Given the description of an element on the screen output the (x, y) to click on. 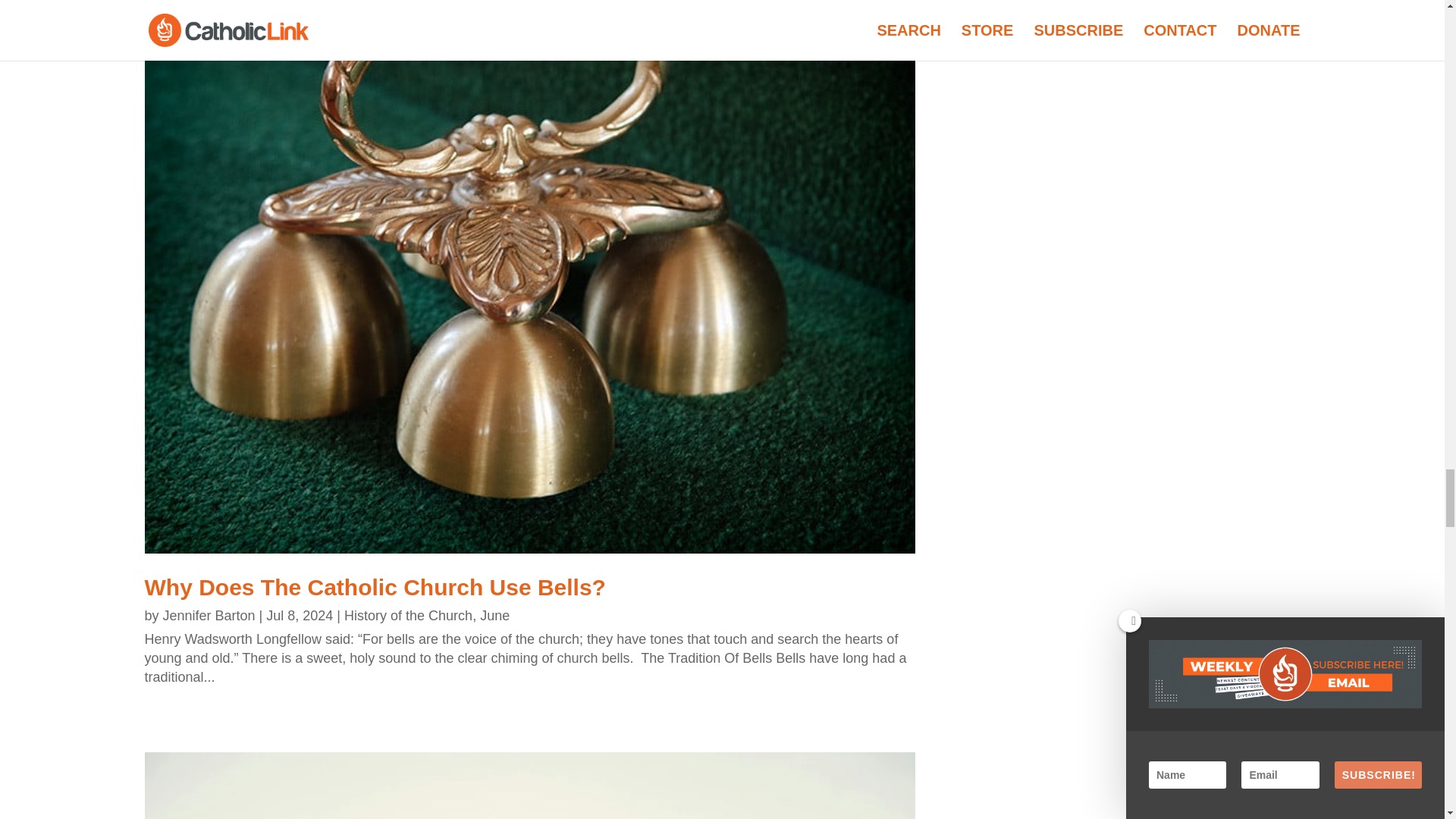
Posts by Jennifer Barton (209, 615)
